Given the description of an element on the screen output the (x, y) to click on. 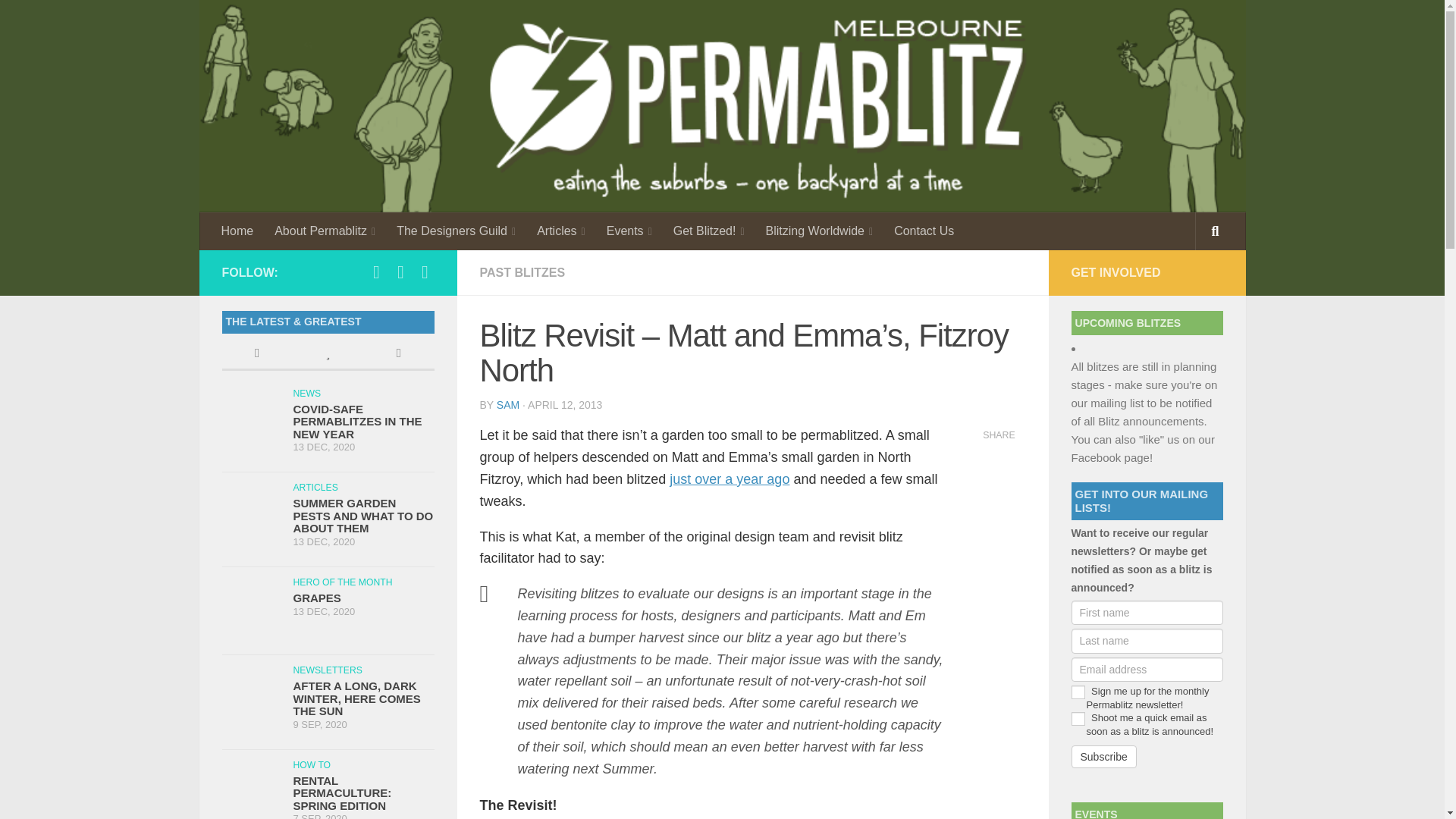
Popular Posts (327, 354)
Follow us on Youtube (423, 271)
Blitzing Worldwide (819, 231)
just over a year ago (729, 478)
COVID-Safe Permablitzes in the New Year (357, 421)
Sign me up for the monthly Permablitz newsletter! (1077, 692)
Recent Posts (256, 354)
Articles (560, 231)
SAM (507, 404)
Contact Us (923, 231)
Follow us on Instagram (400, 271)
PAST BLITZES (521, 272)
About Permablitz (324, 231)
Posts by Sam (507, 404)
Events (628, 231)
